Given the description of an element on the screen output the (x, y) to click on. 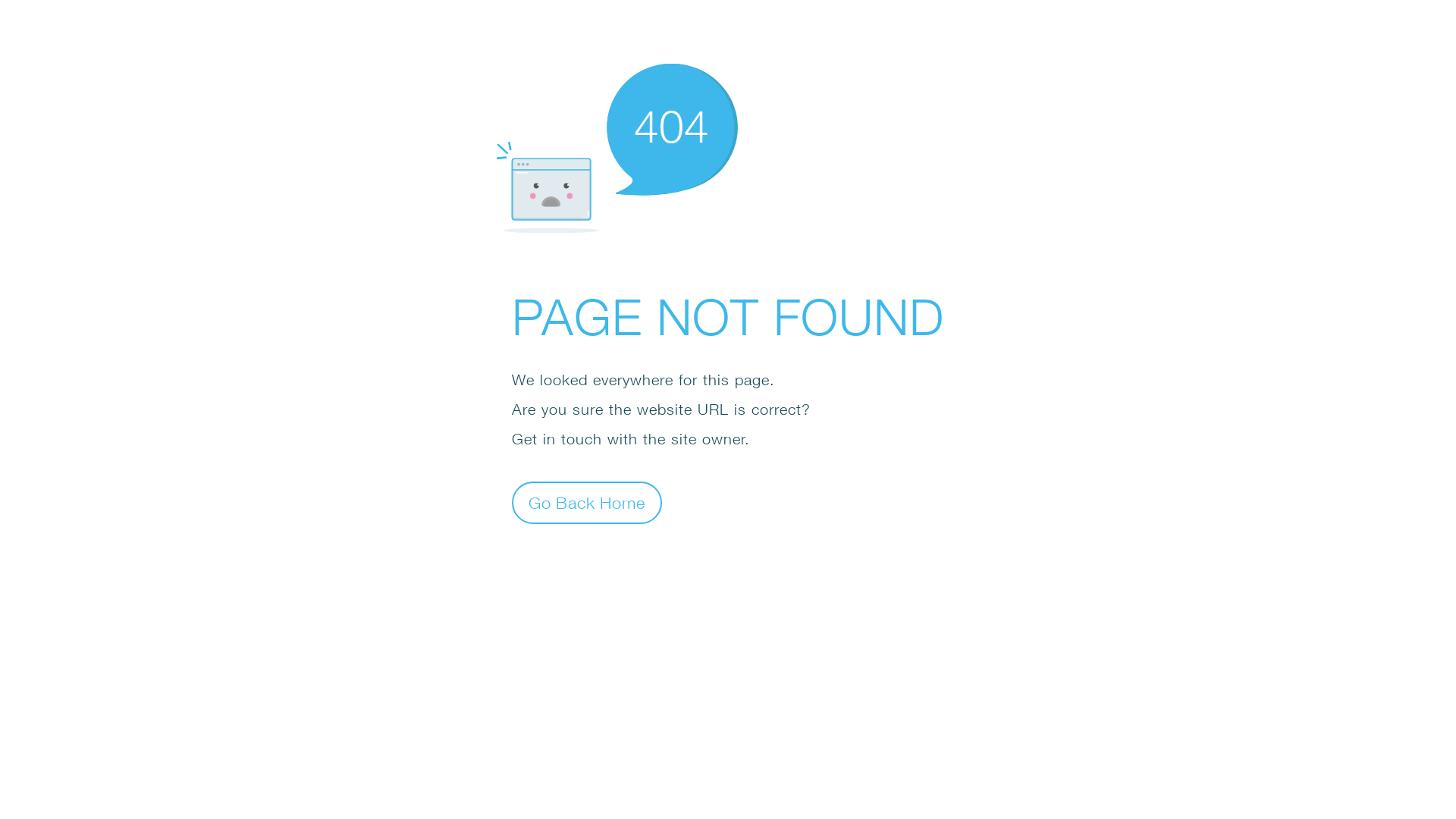
Go Back Home Element type: text (586, 502)
